Given the description of an element on the screen output the (x, y) to click on. 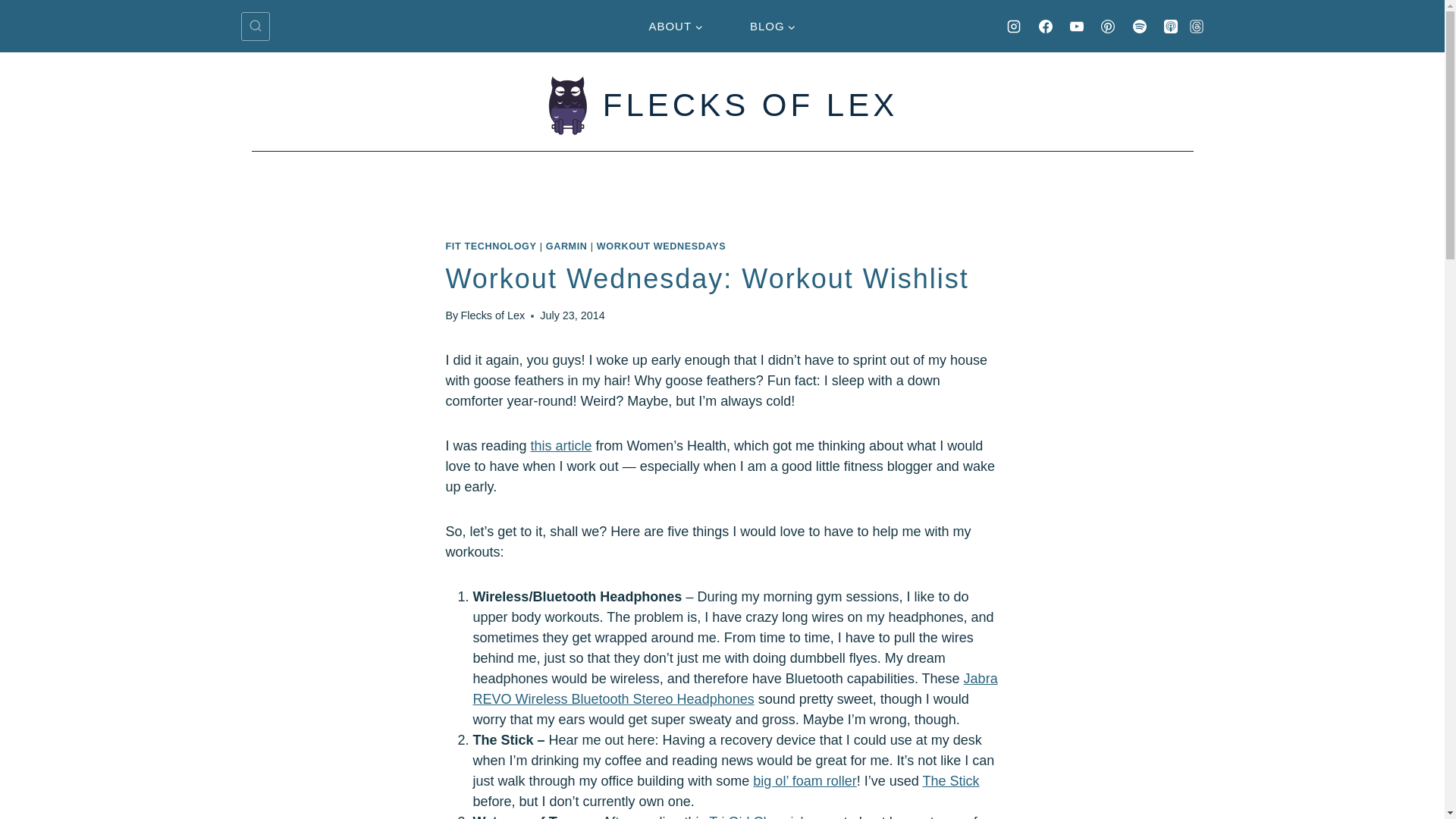
GARMIN (567, 245)
FIT TECHNOLOGY (491, 245)
this article (561, 445)
Flecks of Lex (492, 315)
Tri Girl Chronicles (762, 816)
The Stick (949, 780)
BLOG (772, 26)
WORKOUT WEDNESDAYS (660, 245)
FLECKS OF LEX (722, 105)
ABOUT (676, 26)
